Given the description of an element on the screen output the (x, y) to click on. 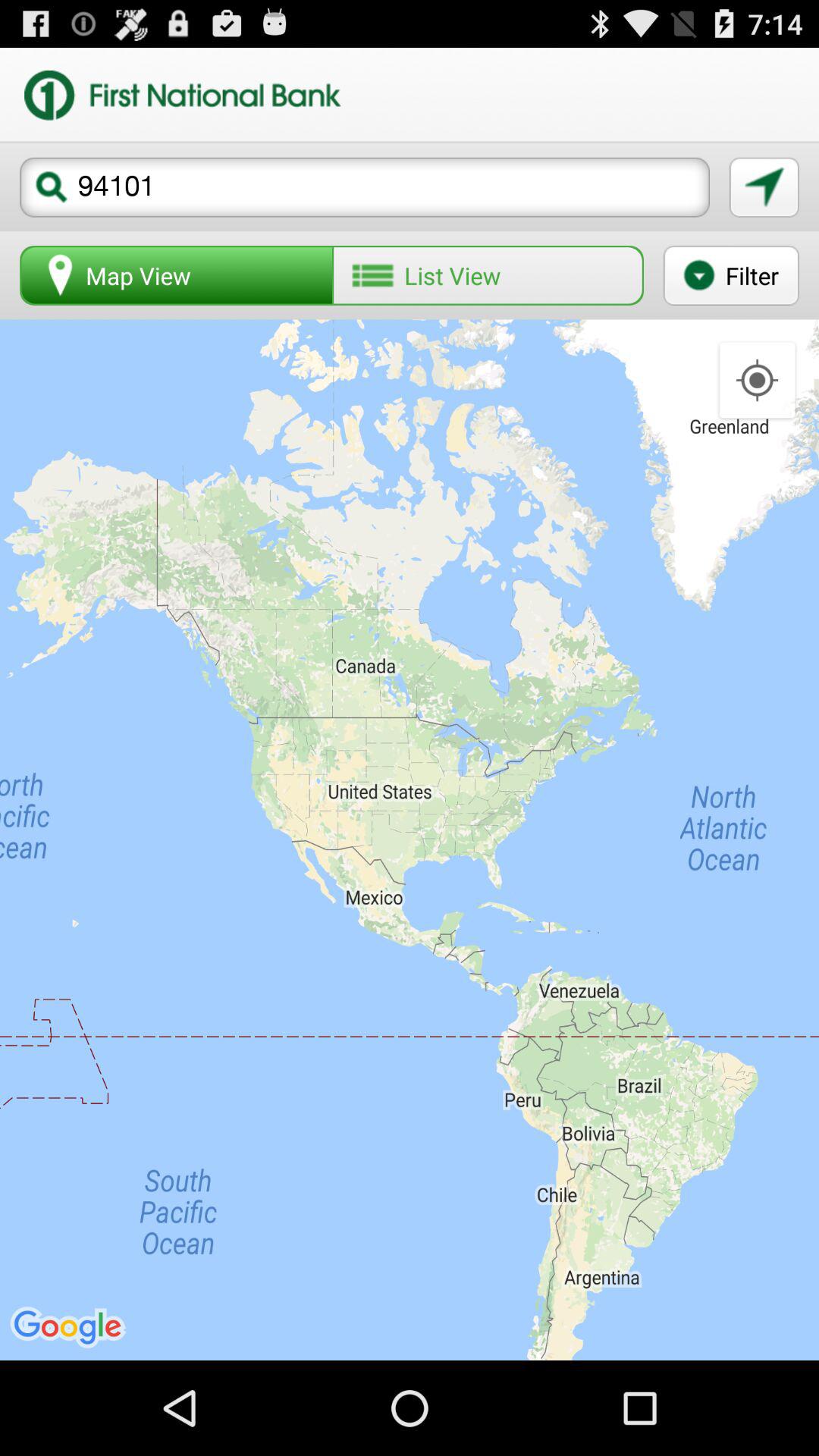
open icon next to the list view (176, 275)
